Given the description of an element on the screen output the (x, y) to click on. 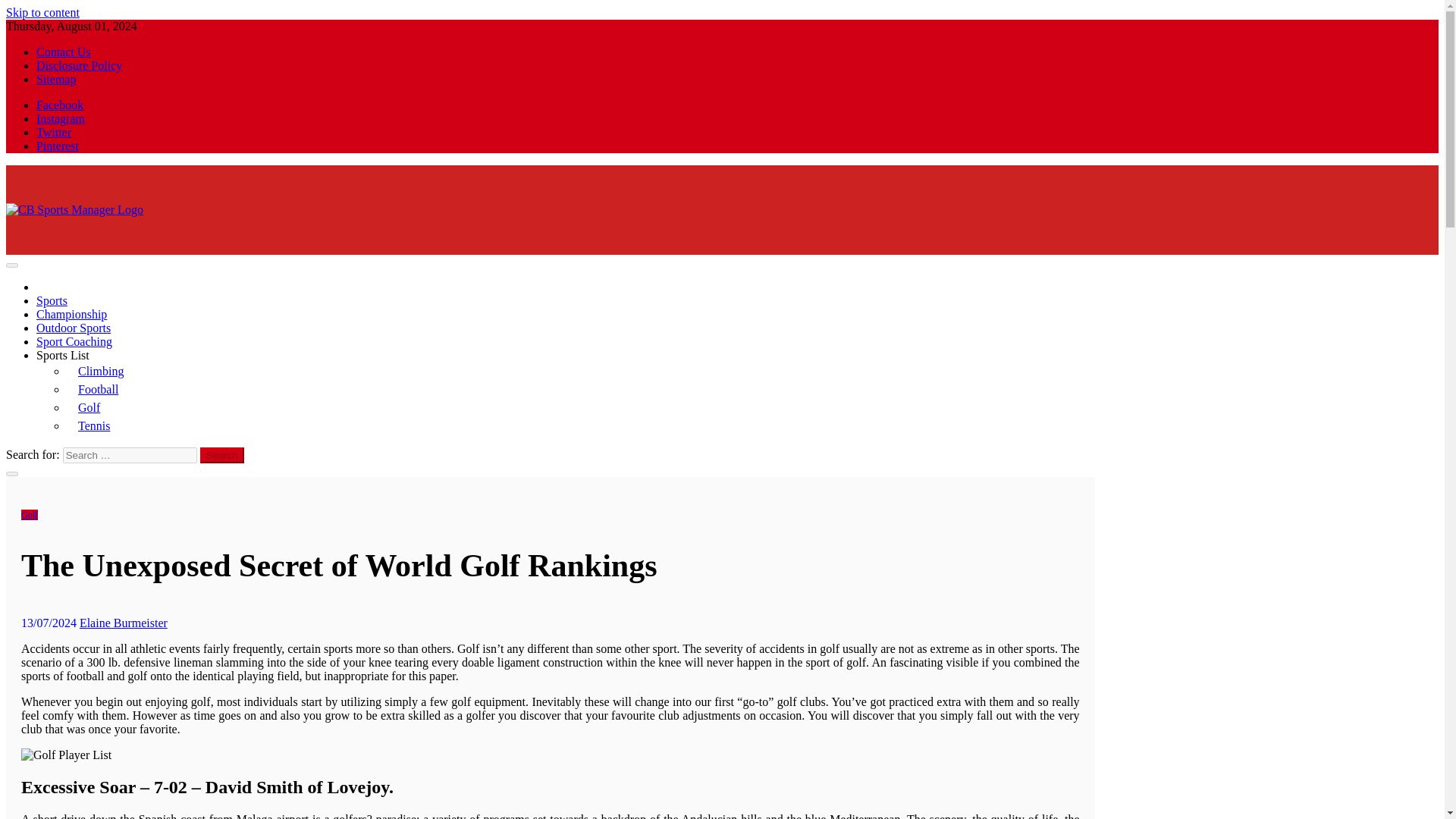
Sports (51, 300)
Championship (71, 314)
CB Sports Manager (132, 266)
Elaine Burmeister (123, 622)
Outdoor Sports (73, 327)
Twitter (53, 132)
Disclosure Policy (79, 65)
Climbing (100, 370)
Skip to content (42, 11)
Football (97, 389)
